Given the description of an element on the screen output the (x, y) to click on. 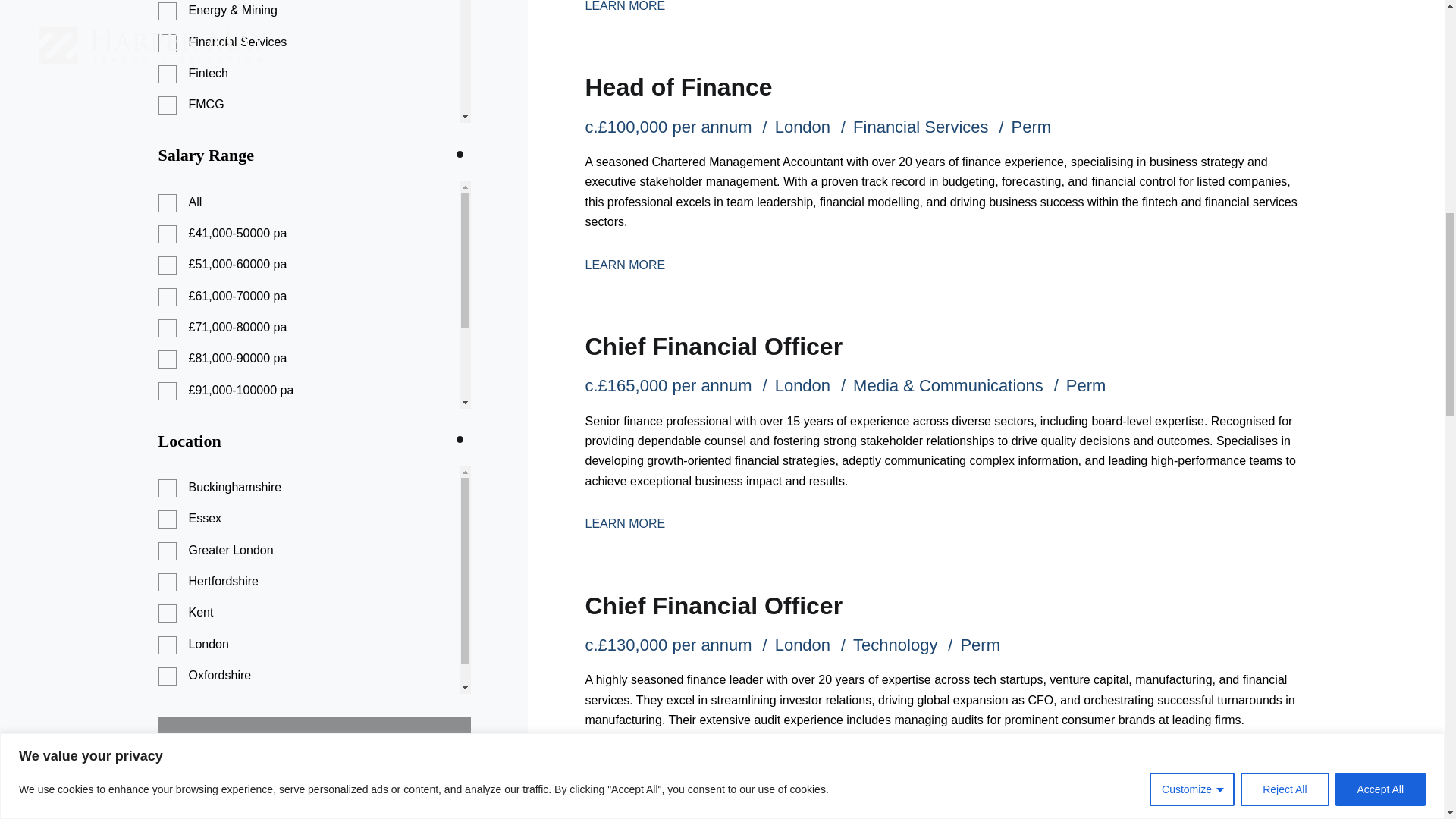
Head of Finance (678, 86)
Chief Financial Officer (714, 605)
LEARN MORE (625, 762)
LEARN MORE (625, 522)
LEARN MORE (625, 6)
Chief Financial Officer (714, 346)
LEARN MORE (625, 264)
CLEAR SEARCH (313, 739)
